Given the description of an element on the screen output the (x, y) to click on. 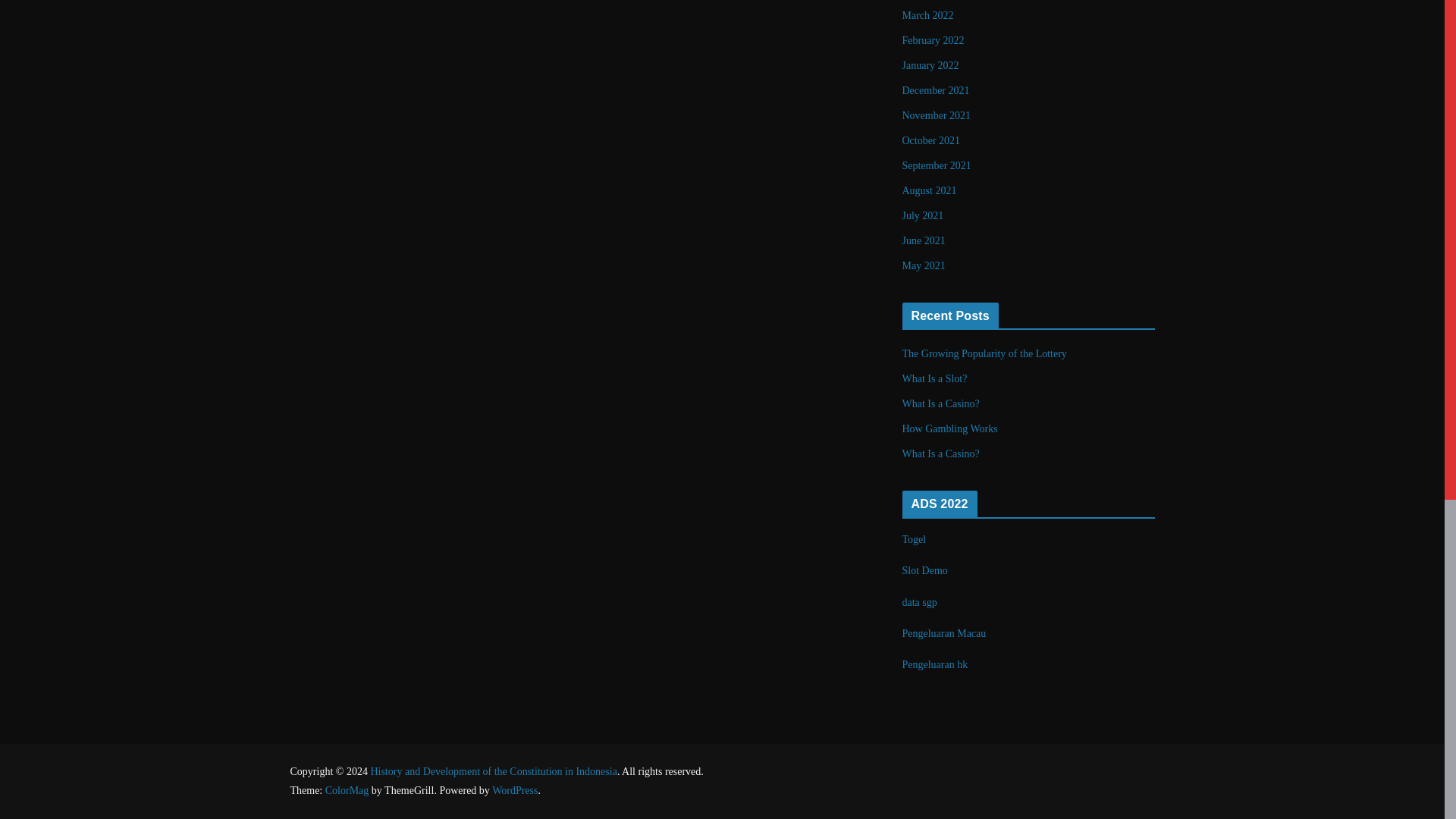
History and Development of the Constitution in Indonesia (492, 771)
ColorMag (346, 790)
WordPress (514, 790)
